Given the description of an element on the screen output the (x, y) to click on. 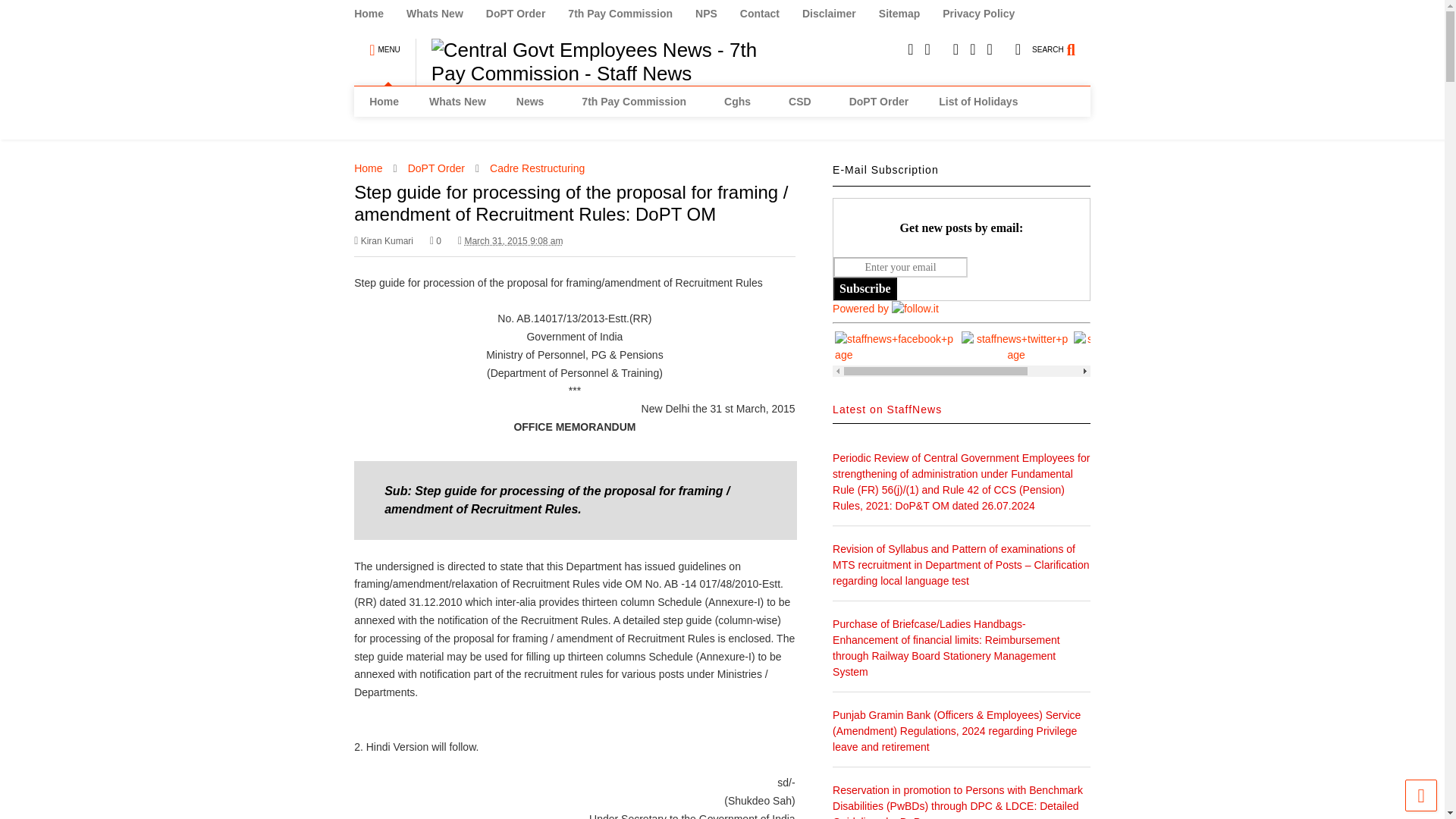
Disclaimer (840, 13)
Kiran Kumari (383, 240)
Cghs (741, 101)
Whats New (456, 101)
News (533, 101)
SEARCH (1061, 42)
Whats New (446, 13)
November 19, 2023 9:59 pm (513, 240)
Sitemap (910, 13)
NPS (717, 13)
Home (383, 101)
7th Pay Commission (631, 13)
Home (379, 13)
Privacy Policy (989, 13)
